Given the description of an element on the screen output the (x, y) to click on. 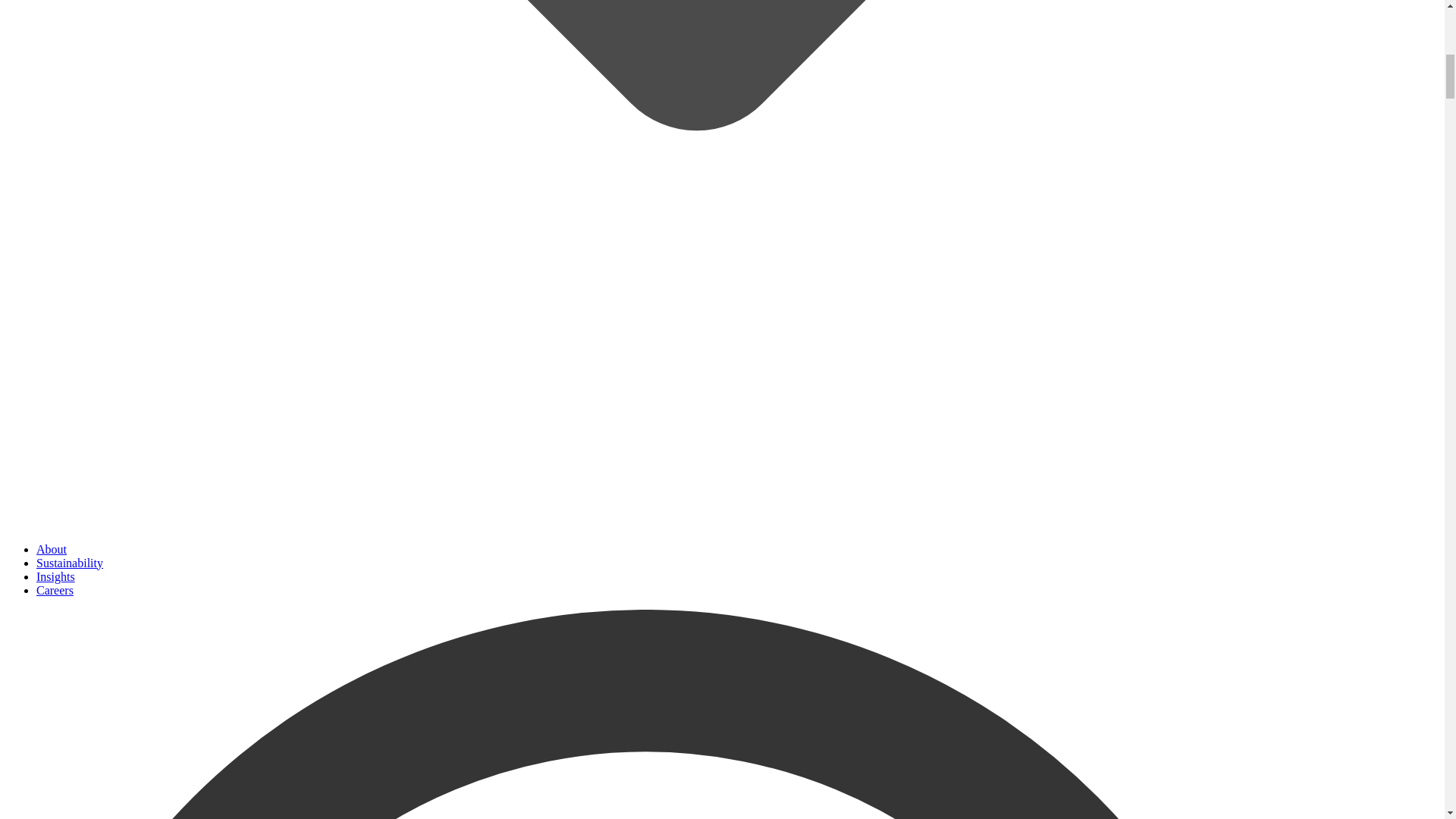
Careers (55, 590)
Insights (55, 576)
Sustainability (69, 562)
About (51, 549)
